Given the description of an element on the screen output the (x, y) to click on. 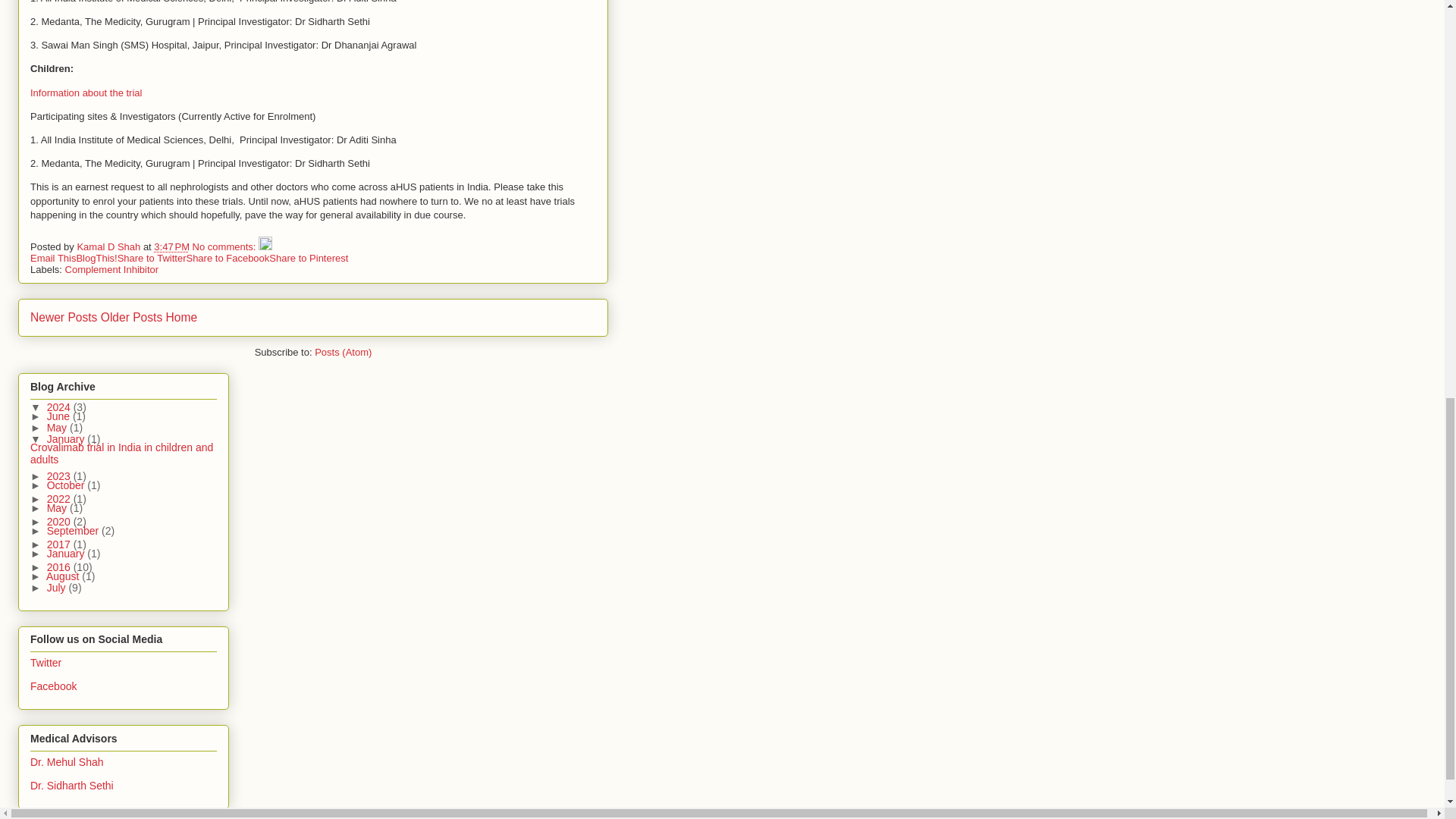
Share to Facebook (227, 257)
Information about the trial (85, 92)
BlogThis! (95, 257)
Share to Twitter (151, 257)
Share to Pinterest (308, 257)
No comments: (225, 246)
Newer Posts (63, 317)
BlogThis! (95, 257)
permanent link (171, 246)
Share to Pinterest (308, 257)
January (66, 439)
Home (181, 317)
Newer Posts (63, 317)
author profile (109, 246)
